Given the description of an element on the screen output the (x, y) to click on. 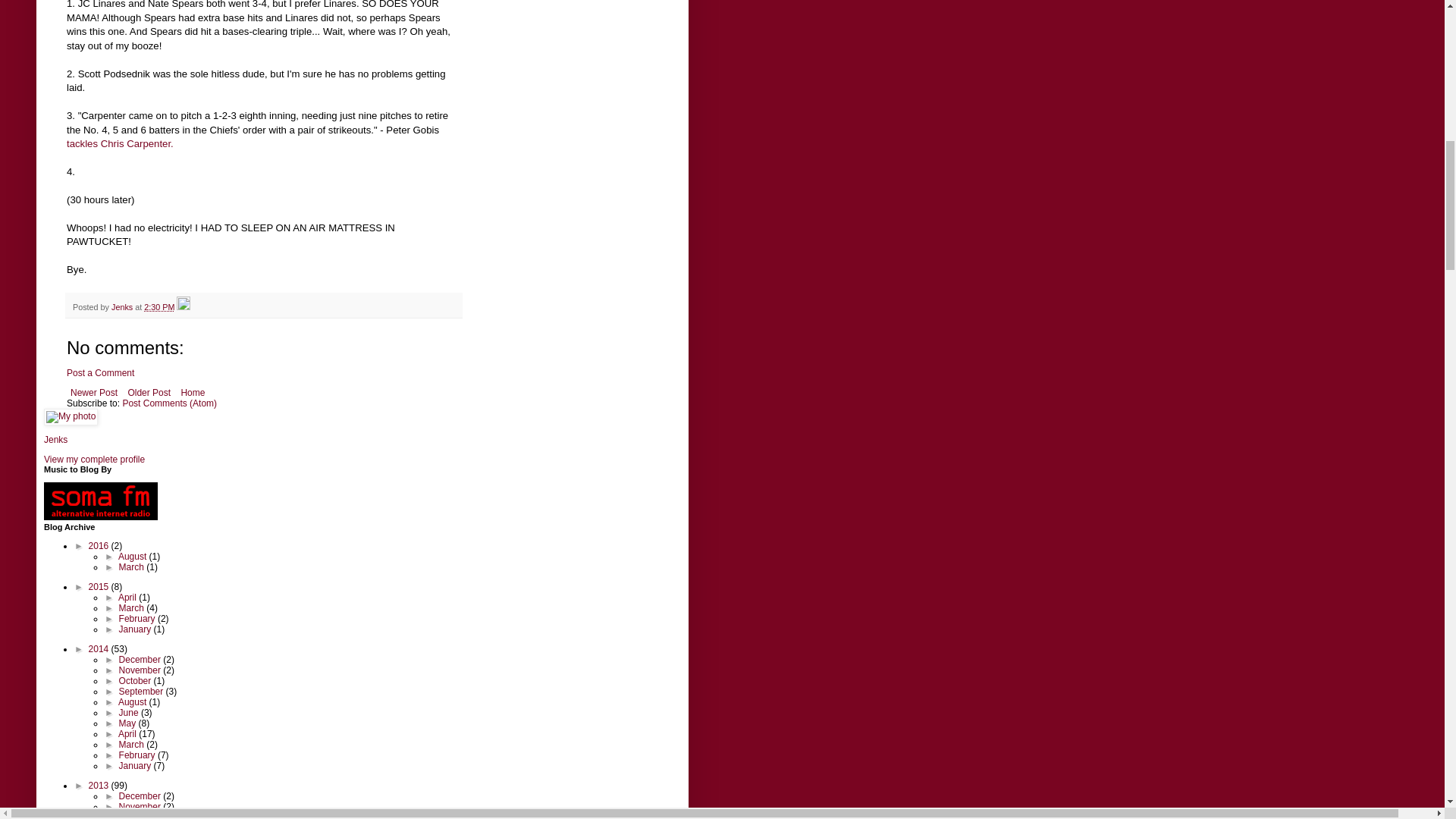
Post a Comment (99, 372)
August (133, 556)
April (127, 597)
2:30 PM (159, 307)
December (141, 659)
March (133, 566)
November (141, 670)
March (133, 607)
Jenks (54, 439)
Older Post (148, 393)
permanent link (159, 307)
Older Post (148, 393)
Edit Post (183, 307)
Newer Post (93, 393)
January (136, 629)
